Given the description of an element on the screen output the (x, y) to click on. 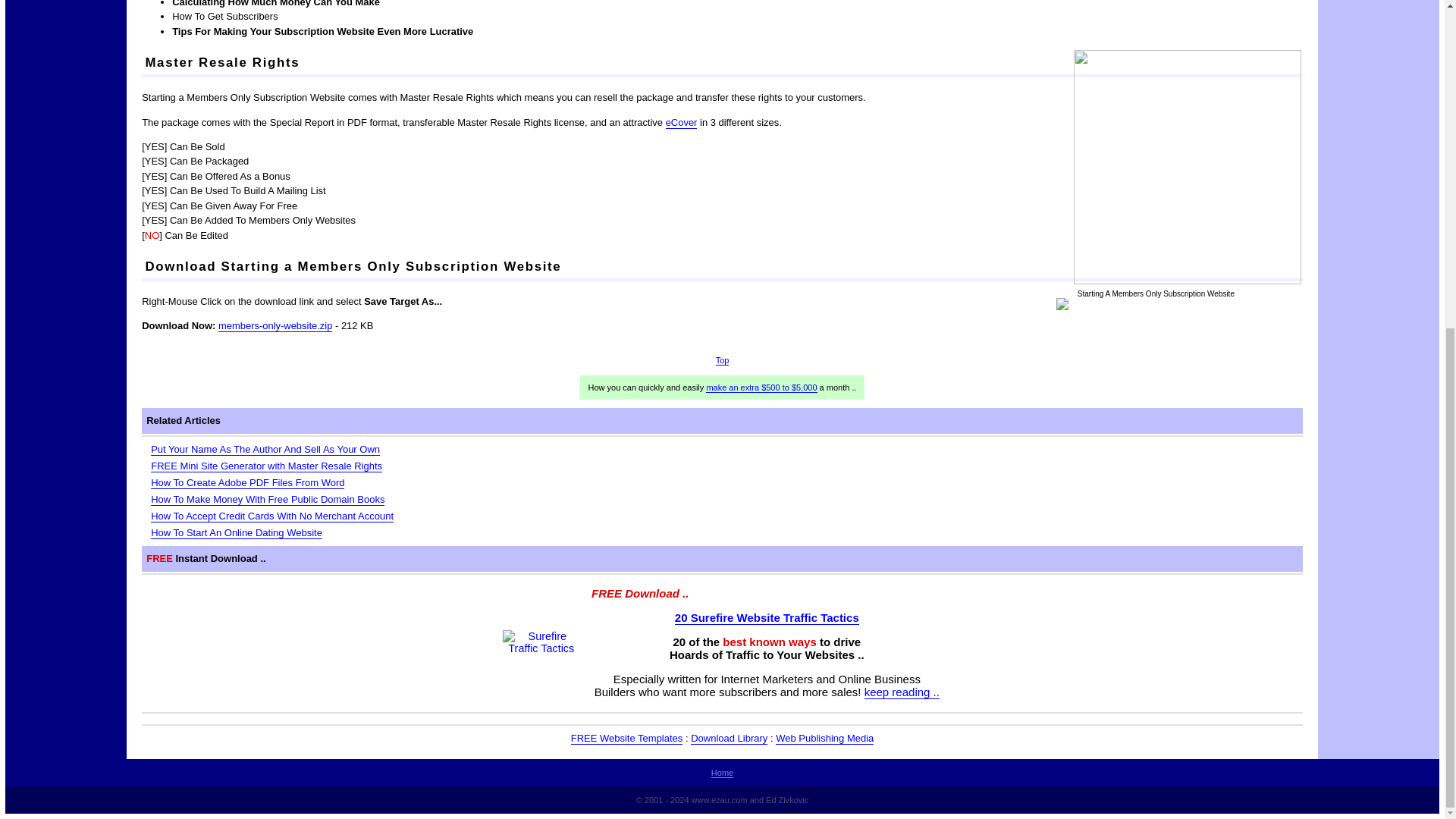
Put Your Name As The Author And Sell As Your Own (265, 449)
members-only-website.zip (274, 326)
FREE Website Templates (626, 738)
Download Library (728, 738)
How To Start An Online Dating Website (236, 532)
Put Your Name As The Author And Sell As Your Own (265, 449)
FREE Mini Site Generator with Master Resale Rights (266, 466)
Web Publishing Media (824, 738)
members-only-website.zip (274, 326)
How To Create Adobe PDF Files From Word (247, 482)
